Given the description of an element on the screen output the (x, y) to click on. 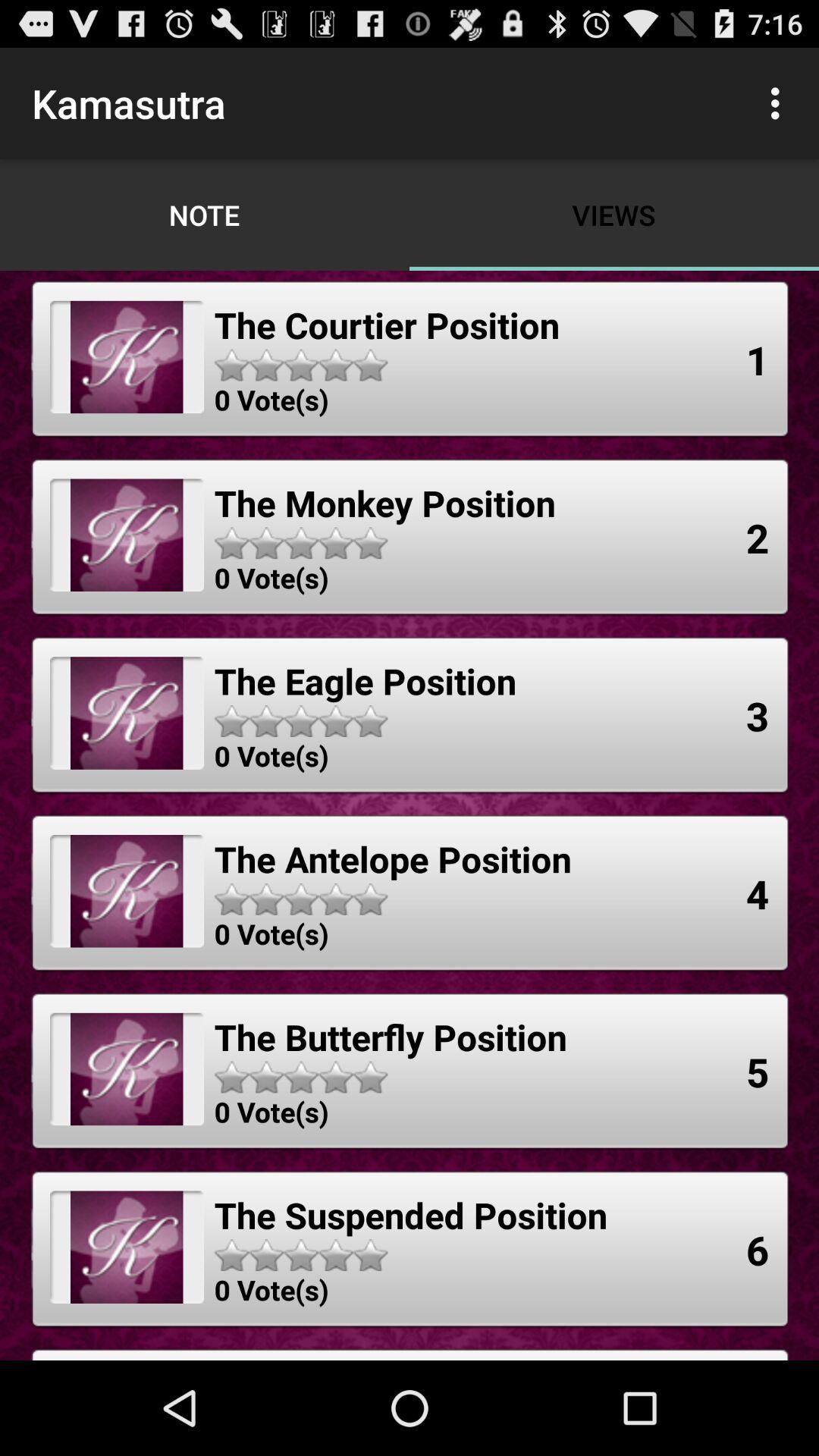
open app below 2 (757, 715)
